Given the description of an element on the screen output the (x, y) to click on. 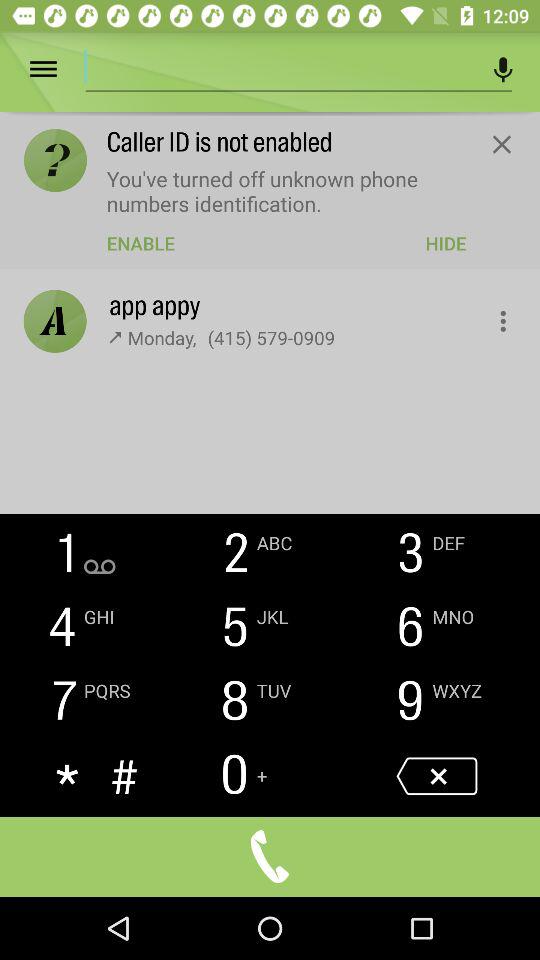
close the page (501, 144)
